Given the description of an element on the screen output the (x, y) to click on. 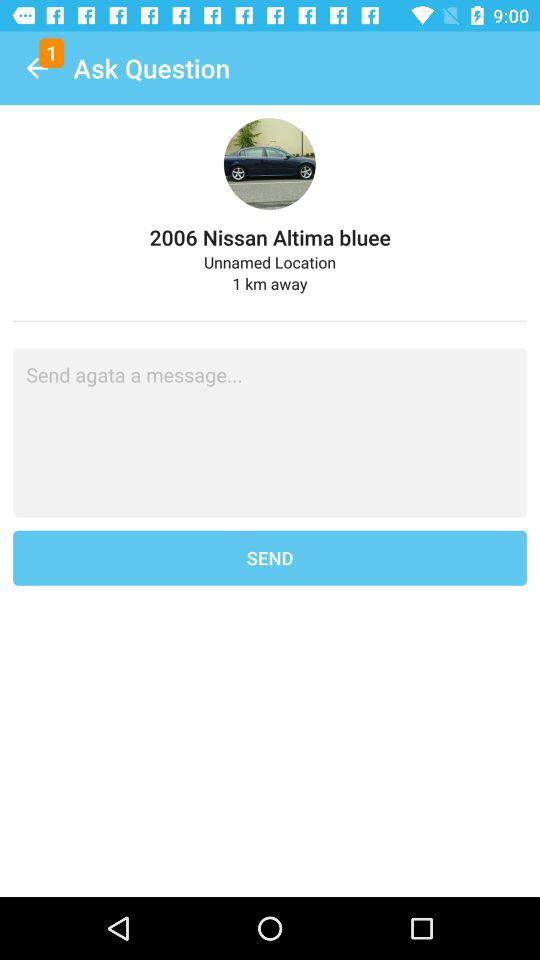
type a message (269, 432)
